Given the description of an element on the screen output the (x, y) to click on. 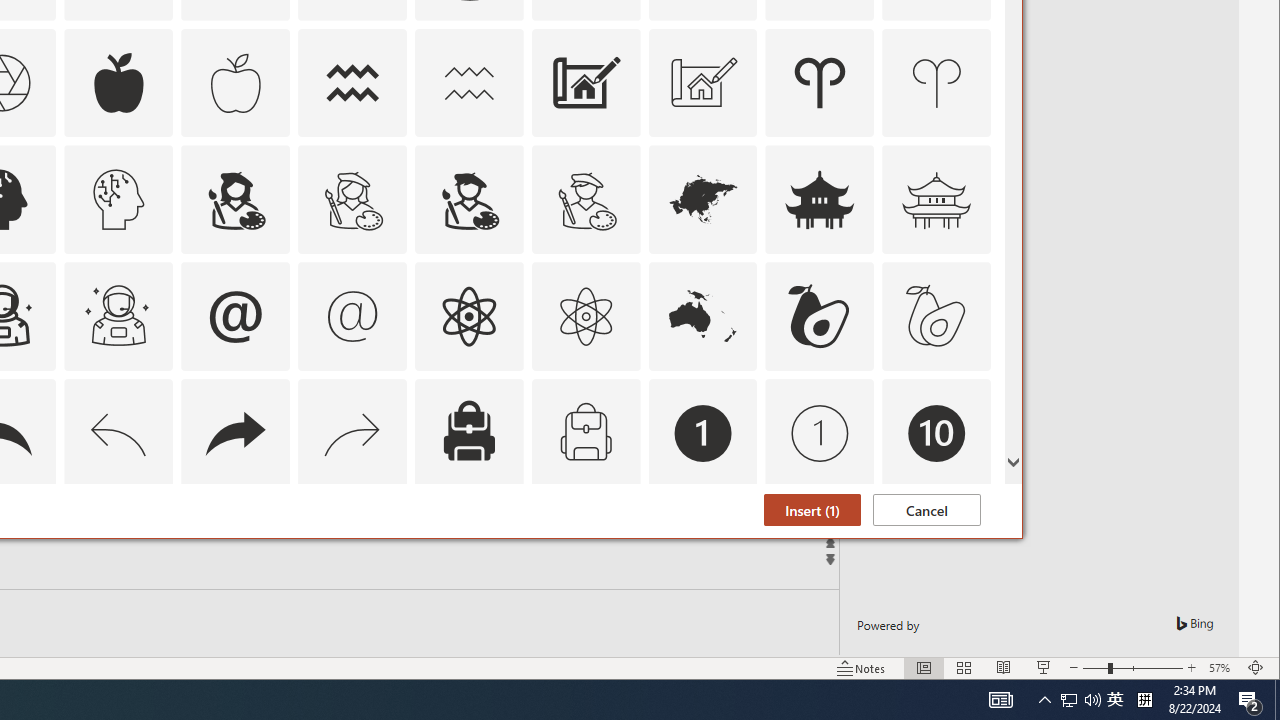
AutomationID: Icons_Badge10 (936, 434)
AutomationID: Icons_At (235, 316)
AutomationID: Icons_Avocado (819, 316)
AutomationID: Icons_Back_LTR_M (118, 434)
AutomationID: Icons (936, 550)
AutomationID: Icons_Backpack (468, 434)
